Given the description of an element on the screen output the (x, y) to click on. 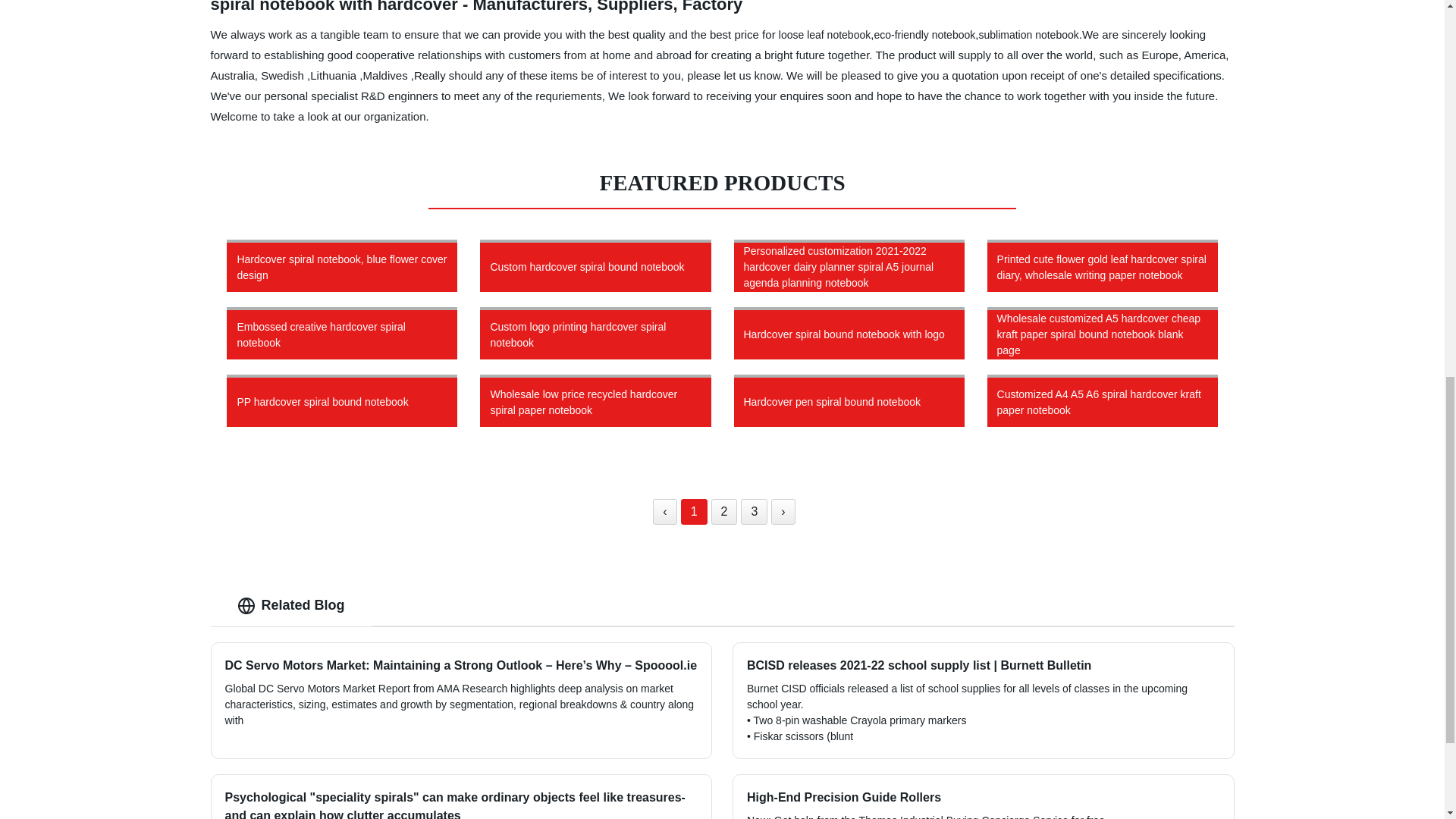
Custom hardcover spiral bound notebook (595, 265)
loose leaf notebook (824, 34)
sublimation notebook (1028, 34)
eco-friendly notebook (924, 34)
Hardcover spiral notebook, blue flower cover design (341, 265)
Custom logo printing hardcover spiral notebook (595, 332)
eco-friendly notebook (924, 34)
loose leaf notebook (824, 34)
sublimation notebook (1028, 34)
